Given the description of an element on the screen output the (x, y) to click on. 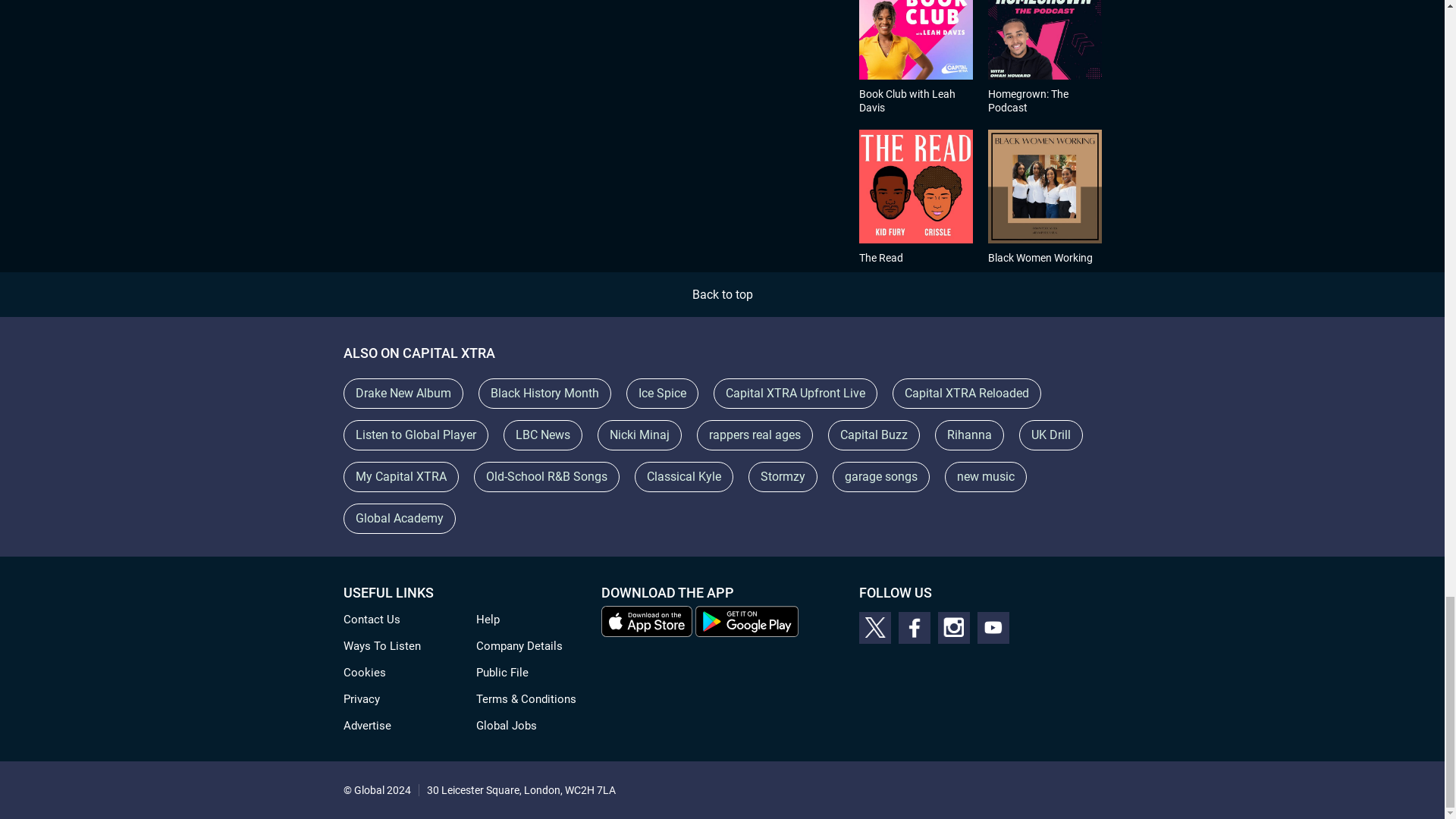
Back to top (721, 294)
Follow CapitalXtra on Youtube (992, 627)
Follow CapitalXtra on Instagram (953, 627)
Follow CapitalXtra on X (874, 627)
Follow CapitalXtra on Facebook (914, 627)
